Given the description of an element on the screen output the (x, y) to click on. 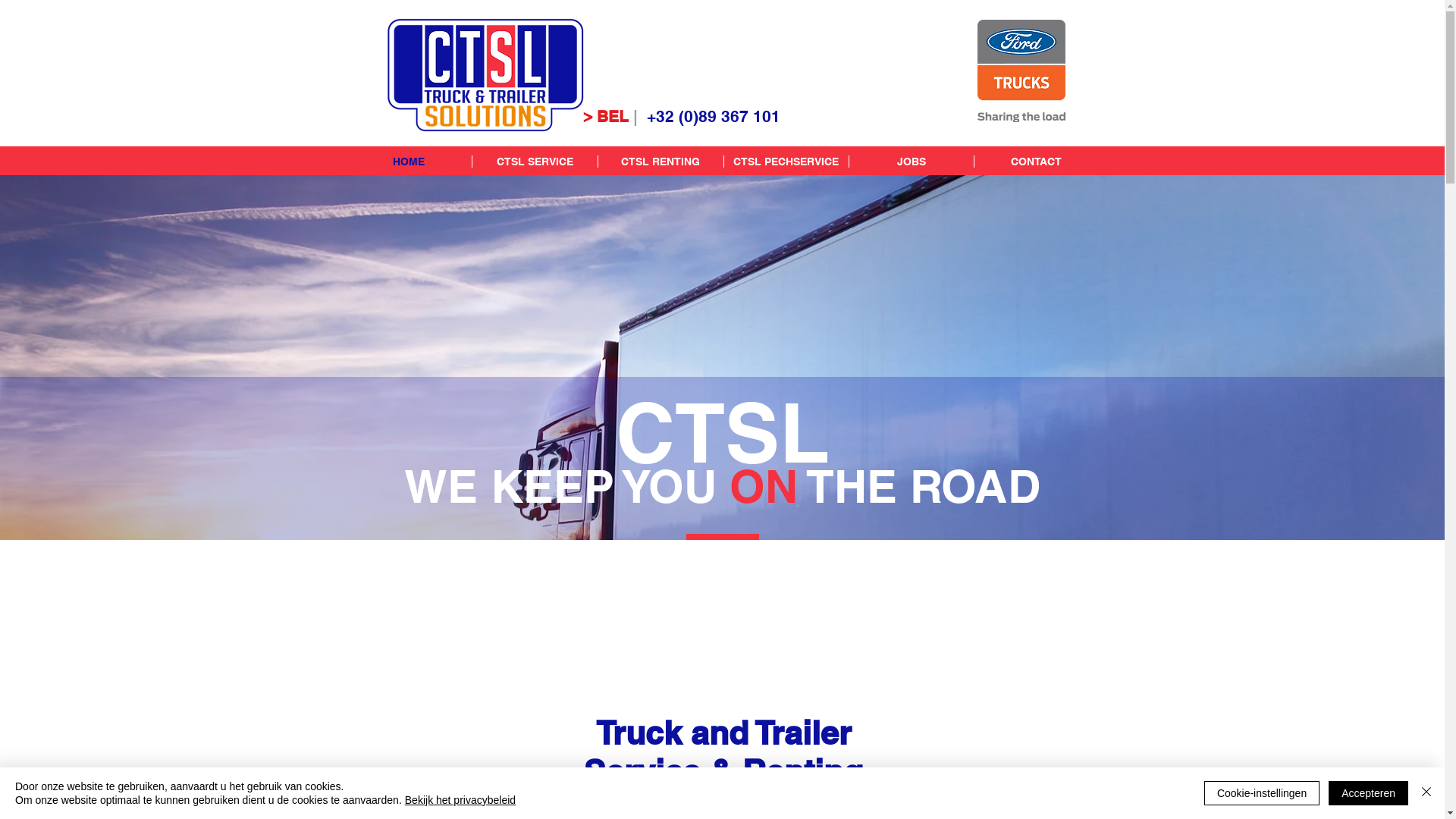
Accepteren Element type: text (1368, 793)
CONTACT Element type: text (1035, 161)
0)89 367 101 Element type: text (732, 115)
HOME Element type: text (408, 161)
CTSL SERVICE Element type: text (534, 161)
Bekijk het privacybeleid Element type: text (459, 799)
CTSL PECHSERVICE Element type: text (785, 161)
JOBS Element type: text (909, 161)
CTSL RENTING Element type: text (660, 161)
Cookie-instellingen Element type: text (1261, 793)
